Given the description of an element on the screen output the (x, y) to click on. 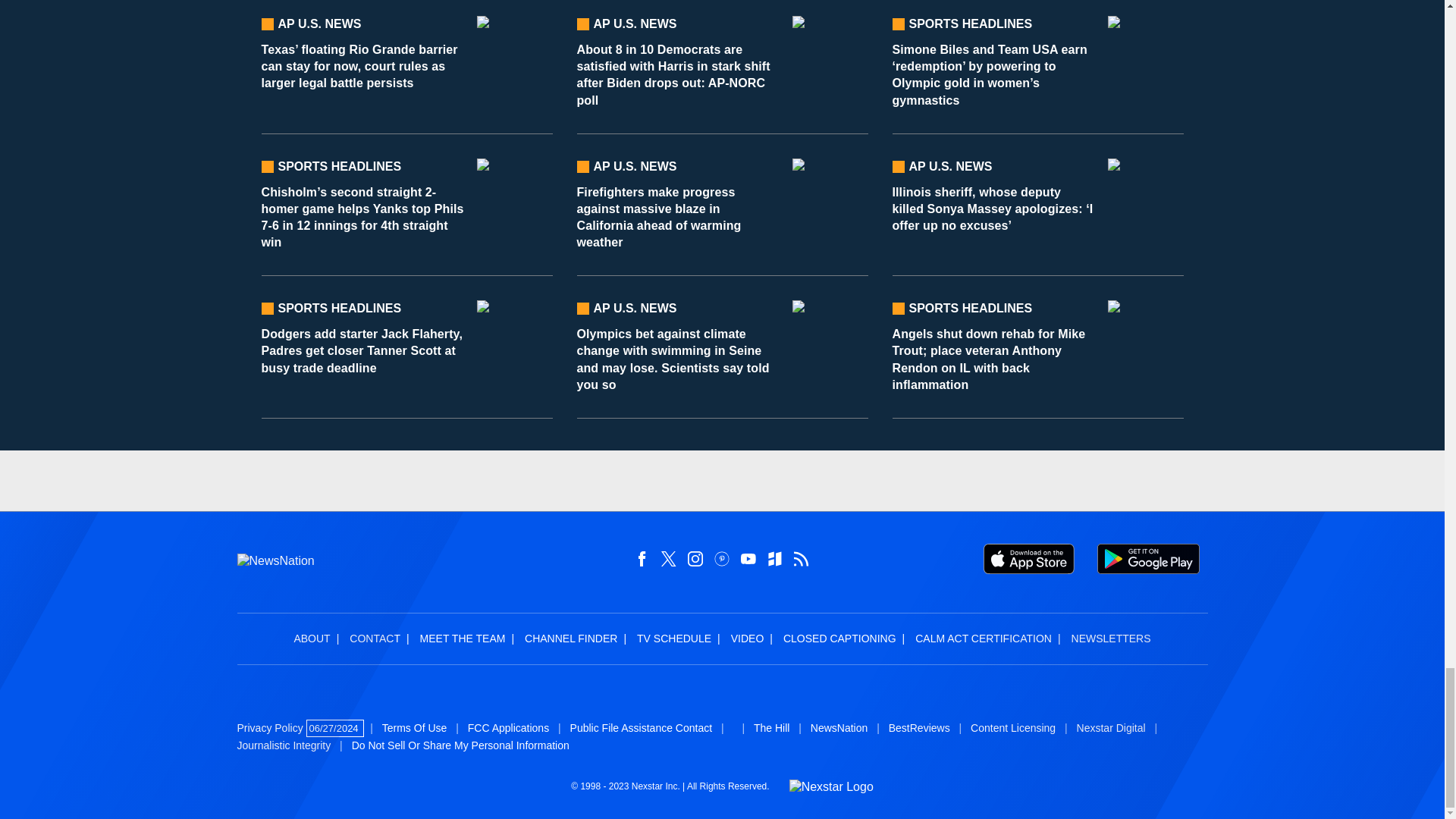
YouTube (748, 558)
Haystack (775, 558)
RSS Feed (801, 558)
Pinterest (721, 558)
X (669, 558)
Instagram (695, 558)
Go to Nexstar.tv (831, 786)
Facebook (641, 558)
